Given the description of an element on the screen output the (x, y) to click on. 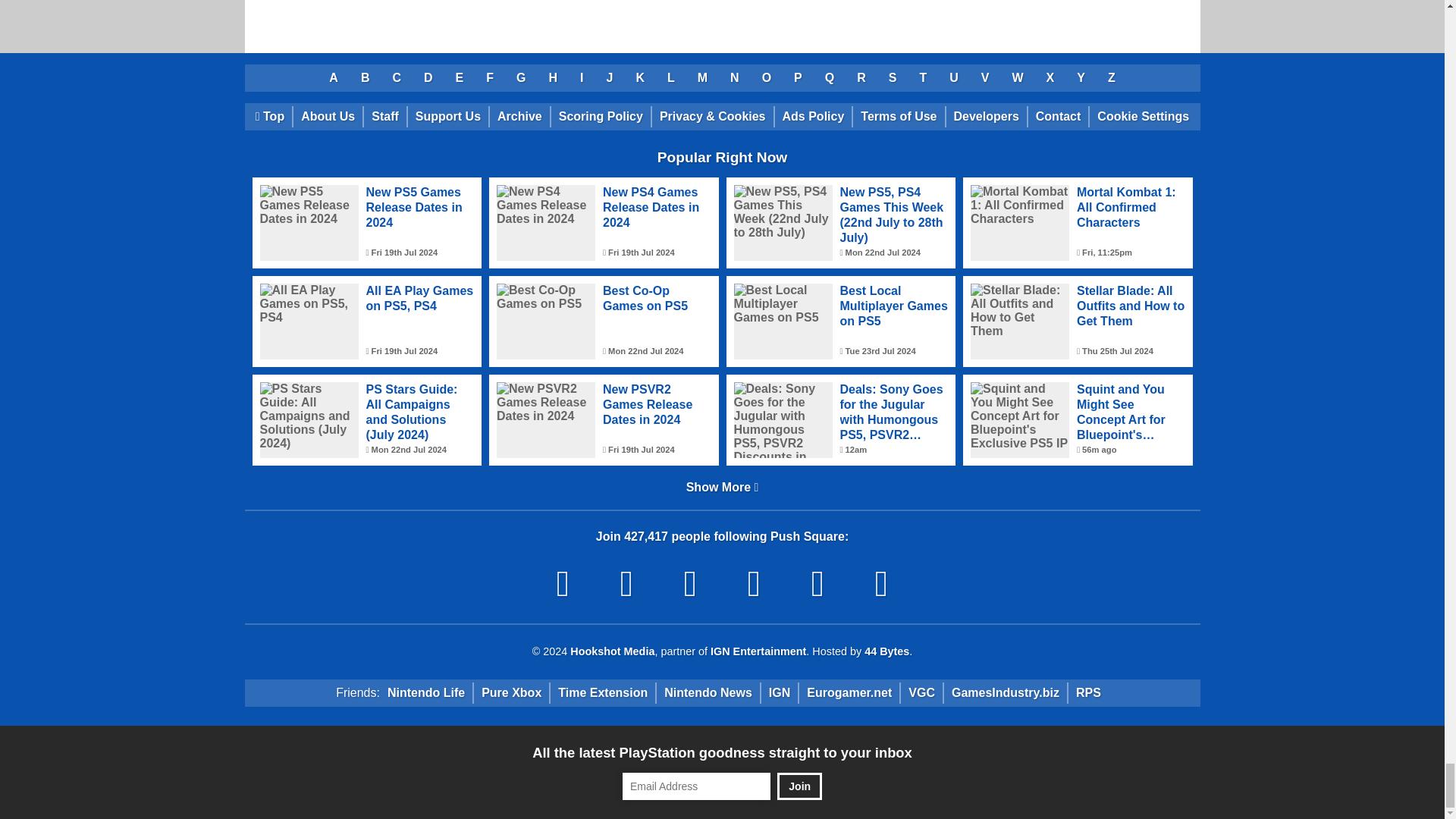
Join (799, 786)
